Given the description of an element on the screen output the (x, y) to click on. 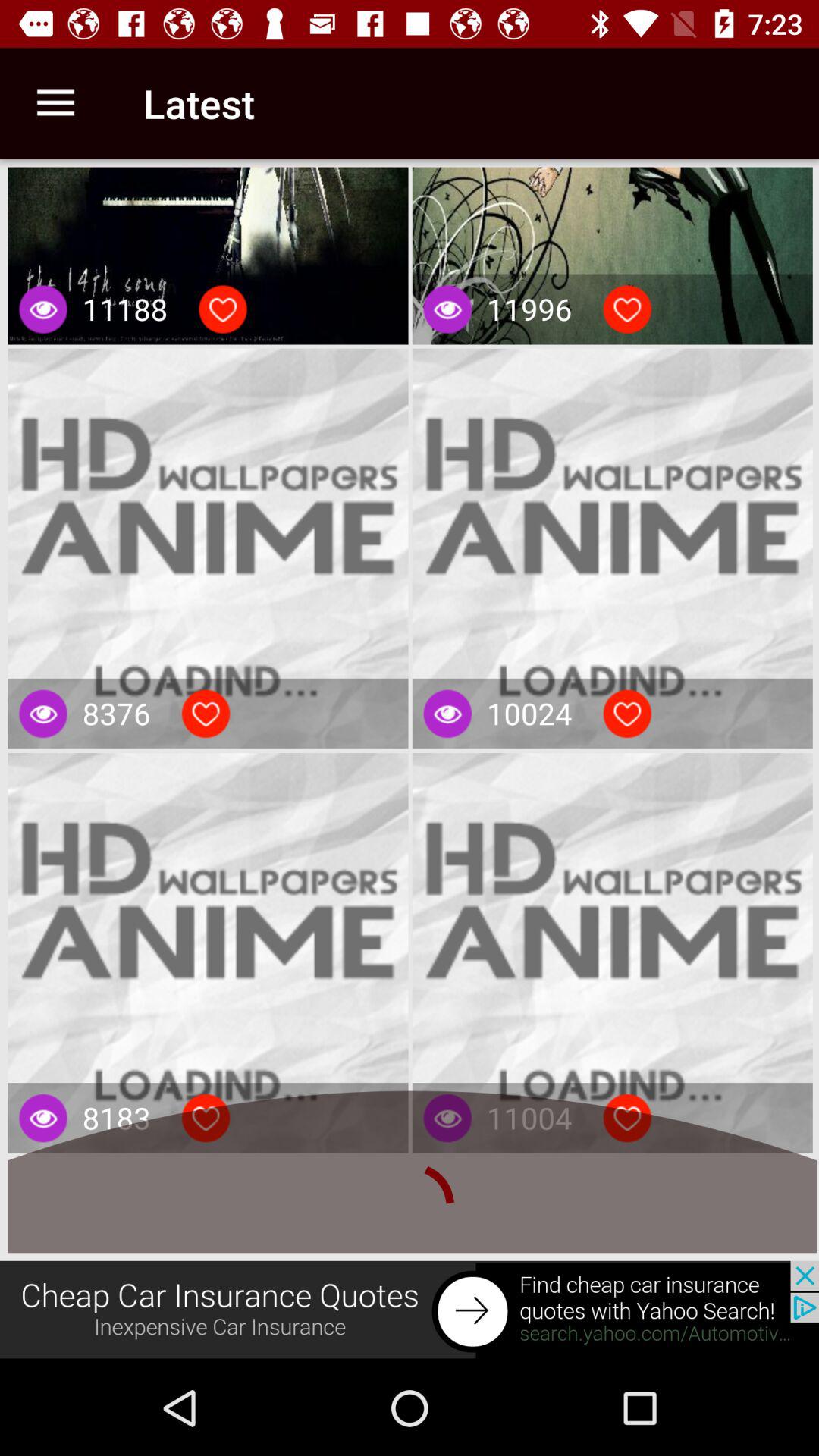
add selection to favorites (627, 713)
